Given the description of an element on the screen output the (x, y) to click on. 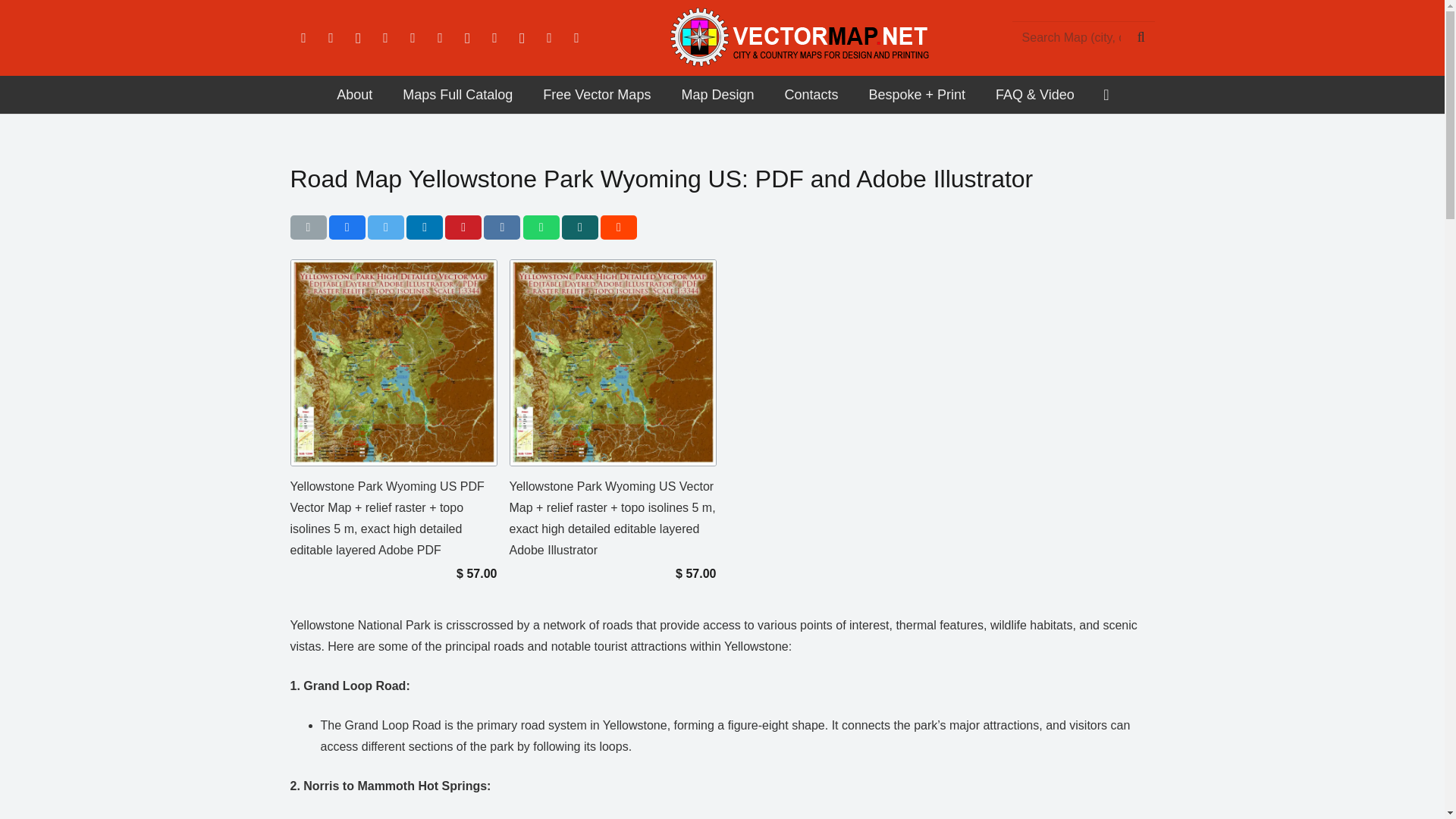
Maps Full Catalog (457, 94)
LinkedIn (384, 37)
ETSY SHOP (548, 37)
Facebook (303, 37)
Telegram (521, 37)
Pinterest (494, 37)
Vector Map Developers (354, 94)
Reddit (466, 37)
Amazon (439, 37)
Instagram (357, 37)
YouTube (412, 37)
About (354, 94)
EBAY (575, 37)
Twitter (330, 37)
